Given the description of an element on the screen output the (x, y) to click on. 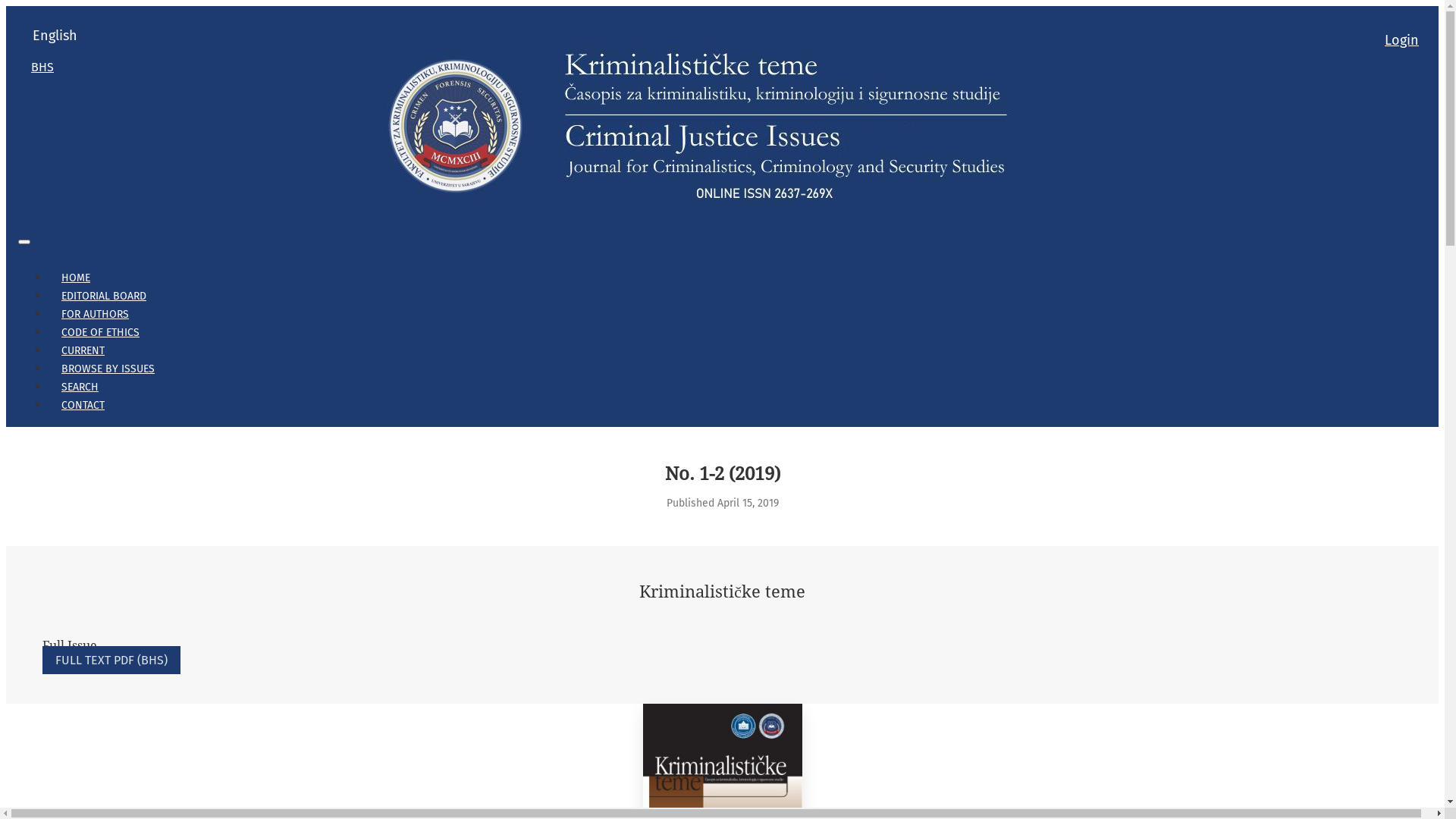
FULL TEXT PDF (BHS) Element type: text (111, 660)
Change the language. The current language is:
English Element type: text (54, 35)
BHS Element type: text (42, 67)
EDITORIAL BOARD Element type: text (103, 295)
Login Element type: text (1401, 40)
FOR AUTHORS Element type: text (94, 313)
SEARCH Element type: text (79, 386)
CURRENT Element type: text (82, 350)
CONTACT Element type: text (82, 404)
BROWSE BY ISSUES Element type: text (107, 368)
HOME Element type: text (75, 277)
CODE OF ETHICS Element type: text (100, 332)
